Given the description of an element on the screen output the (x, y) to click on. 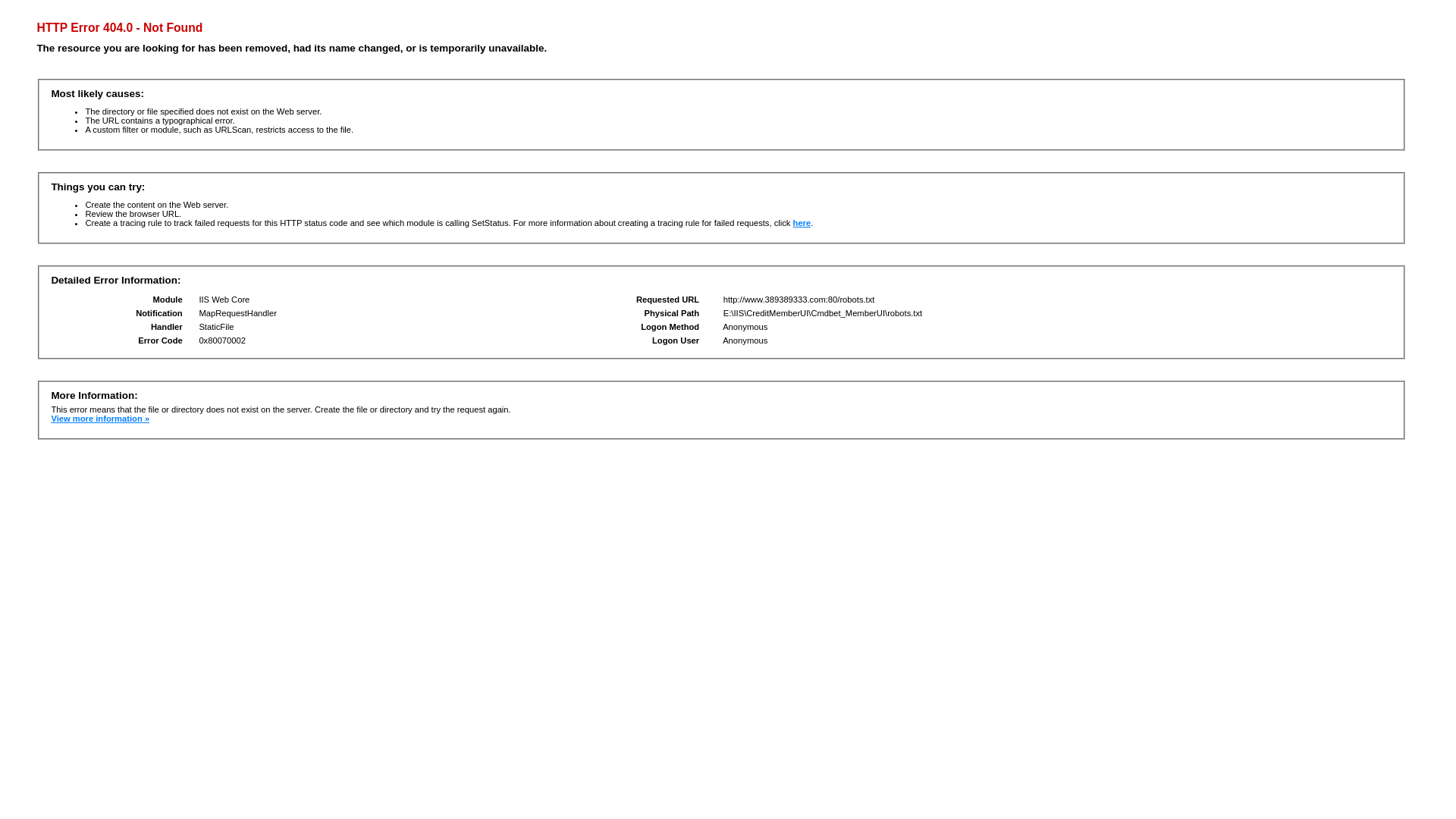
here Element type: text (802, 222)
